Given the description of an element on the screen output the (x, y) to click on. 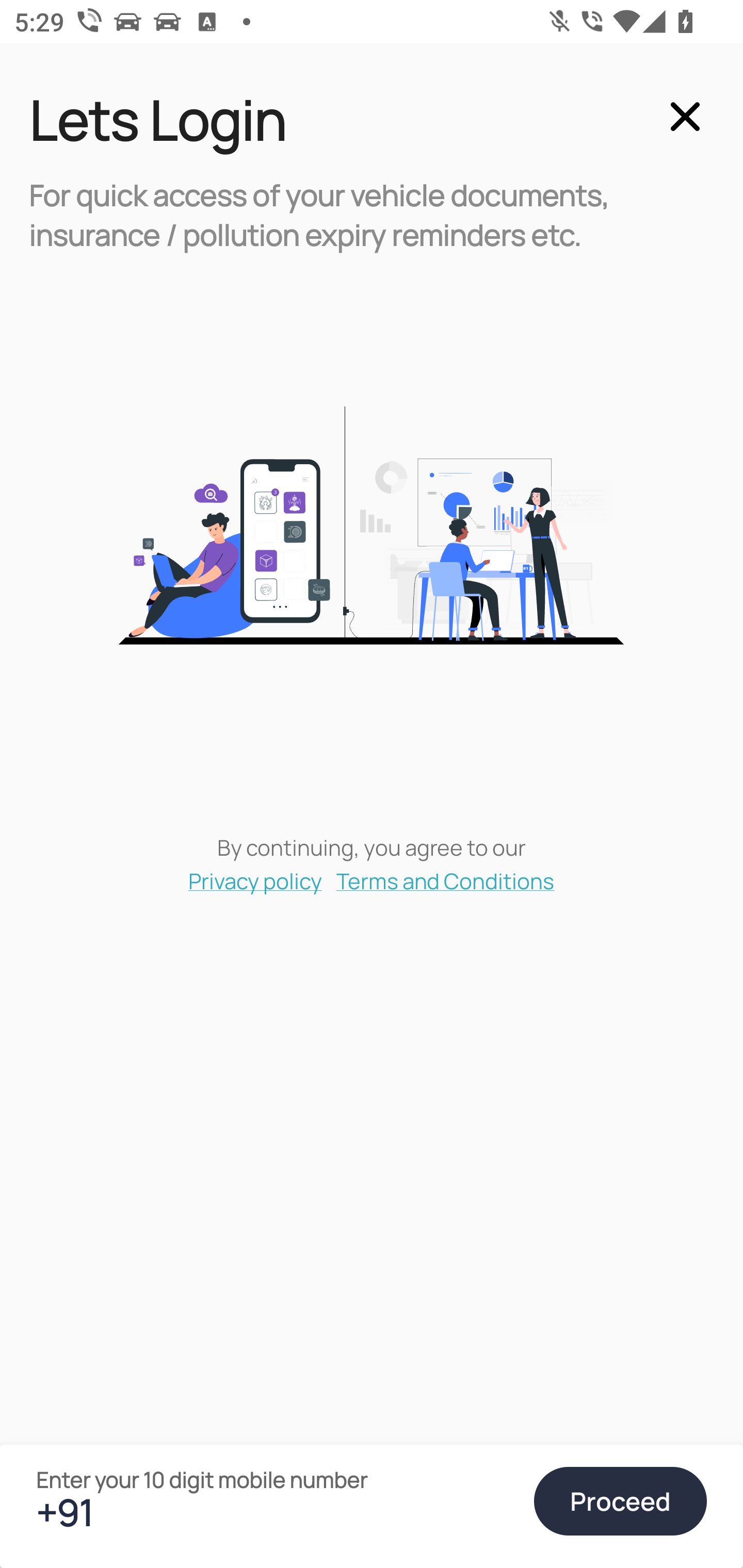
Privacy policy (254, 880)
Terms and Conditions (445, 880)
Proceed (620, 1501)
Enter your 10 digit mobile number (275, 1512)
